Given the description of an element on the screen output the (x, y) to click on. 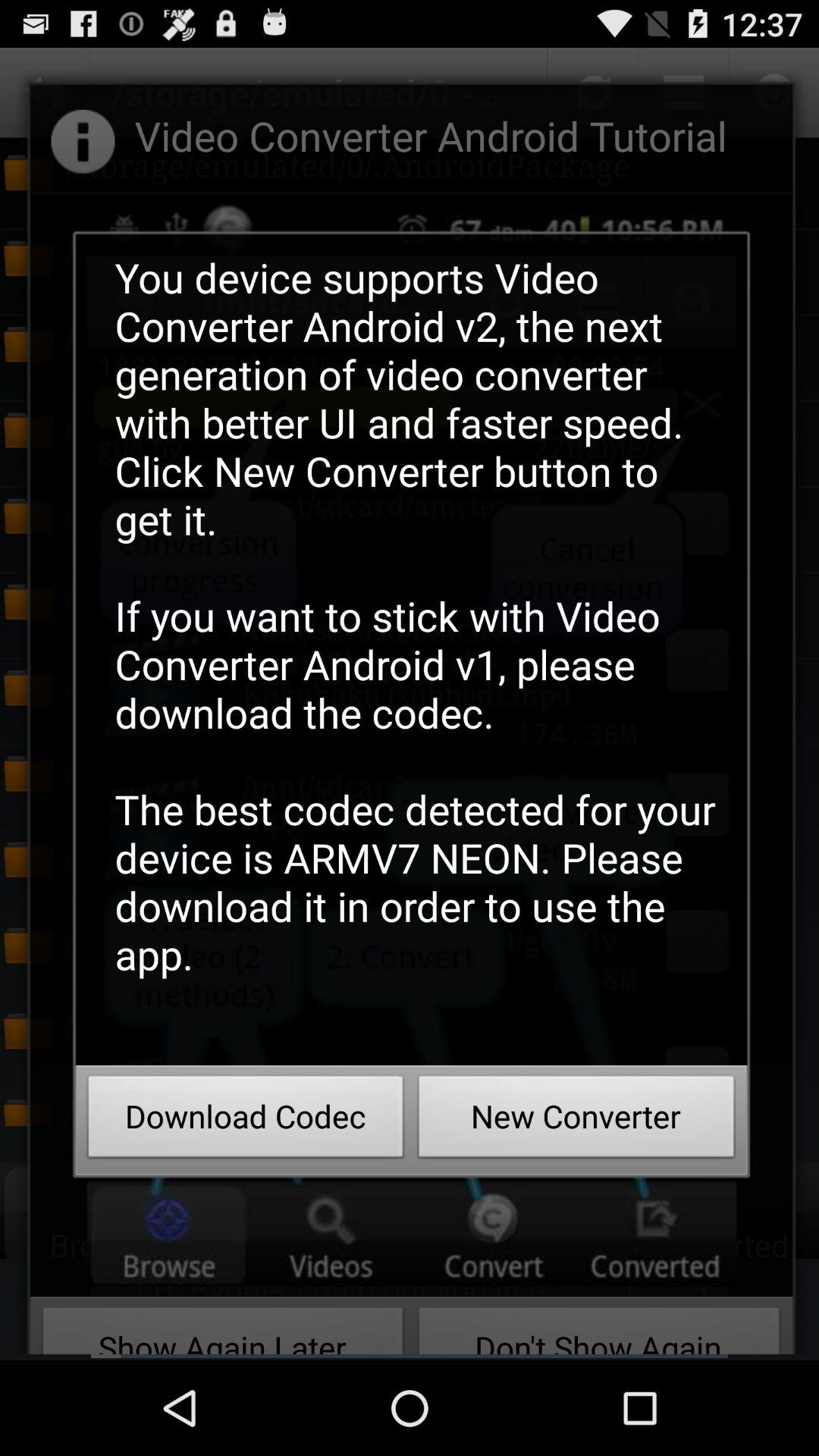
click download codec item (245, 1120)
